Given the description of an element on the screen output the (x, y) to click on. 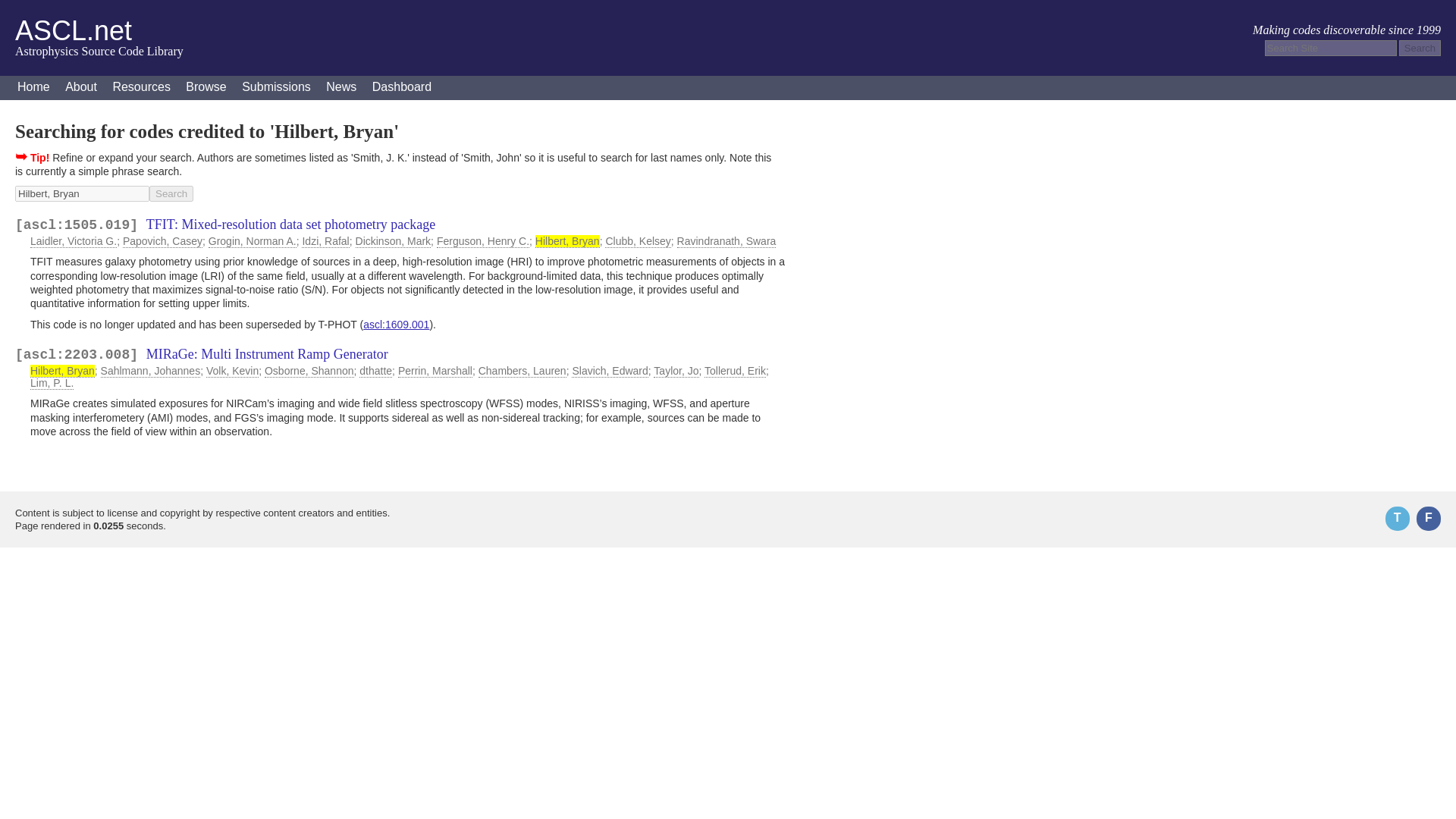
Papovich, Casey (162, 241)
Perrin, Marshall (434, 370)
T (1397, 518)
Dickinson, Mark (392, 241)
Ravindranath, Swara (726, 241)
Search (1420, 48)
MIRaGe: Multi Instrument Ramp Generator (267, 353)
ascl:1609.001 (395, 324)
dthatte (375, 370)
Submissions (276, 87)
Volk, Kevin (232, 370)
Hilbert, Bryan (81, 193)
News (341, 87)
Lim, P. L. (52, 382)
Hilbert, Bryan (62, 370)
